Given the description of an element on the screen output the (x, y) to click on. 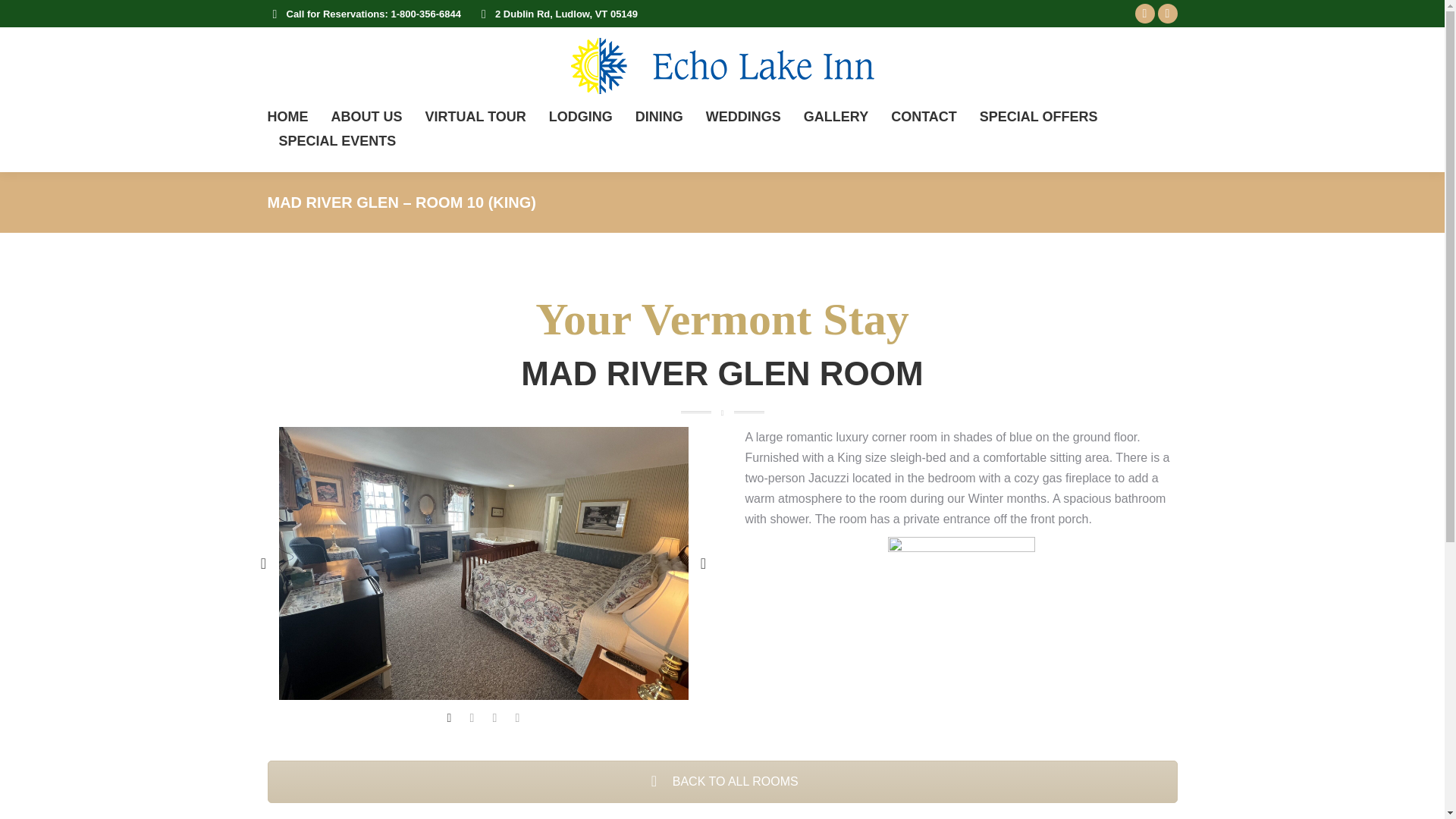
ABOUT US (365, 116)
SPECIAL OFFERS (1038, 116)
GALLERY (835, 116)
Instagram page opens in new window (1166, 13)
SPECIAL EVENTS (337, 140)
VIRTUAL TOUR (475, 116)
In-room-Jacuzzi-Tub-and-fireplace-vermont (959, 569)
HOME (286, 116)
DINING (658, 116)
Facebook page opens in new window (1144, 13)
